Given the description of an element on the screen output the (x, y) to click on. 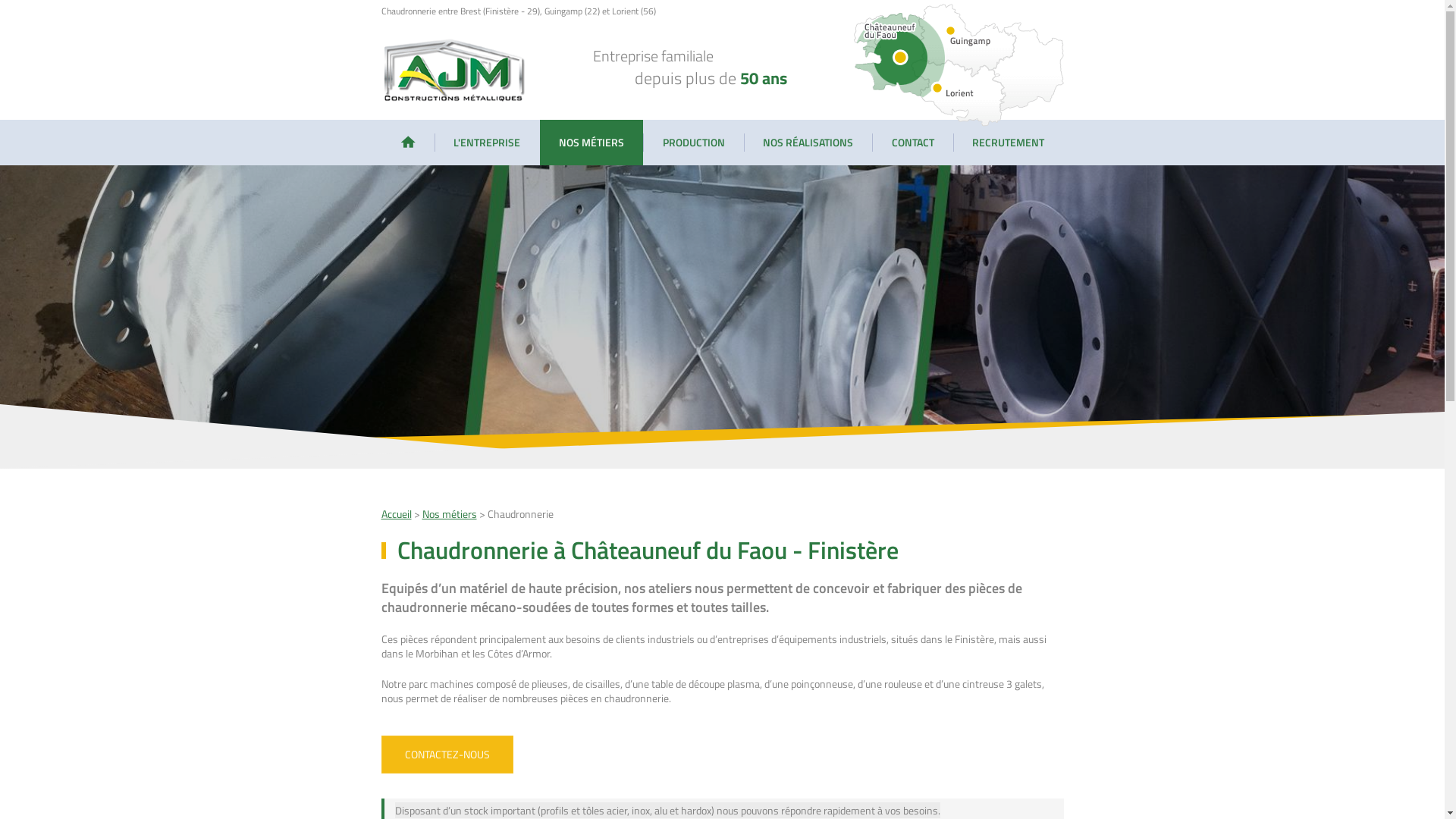
RECRUTEMENT Element type: text (1008, 142)
ACCUEIL Element type: text (407, 142)
Accueil Element type: text (395, 513)
L'ENTREPRISE Element type: text (486, 142)
CONTACT Element type: text (912, 142)
CONTACTEZ-NOUS Element type: text (446, 754)
PRODUCTION Element type: text (693, 142)
